Given the description of an element on the screen output the (x, y) to click on. 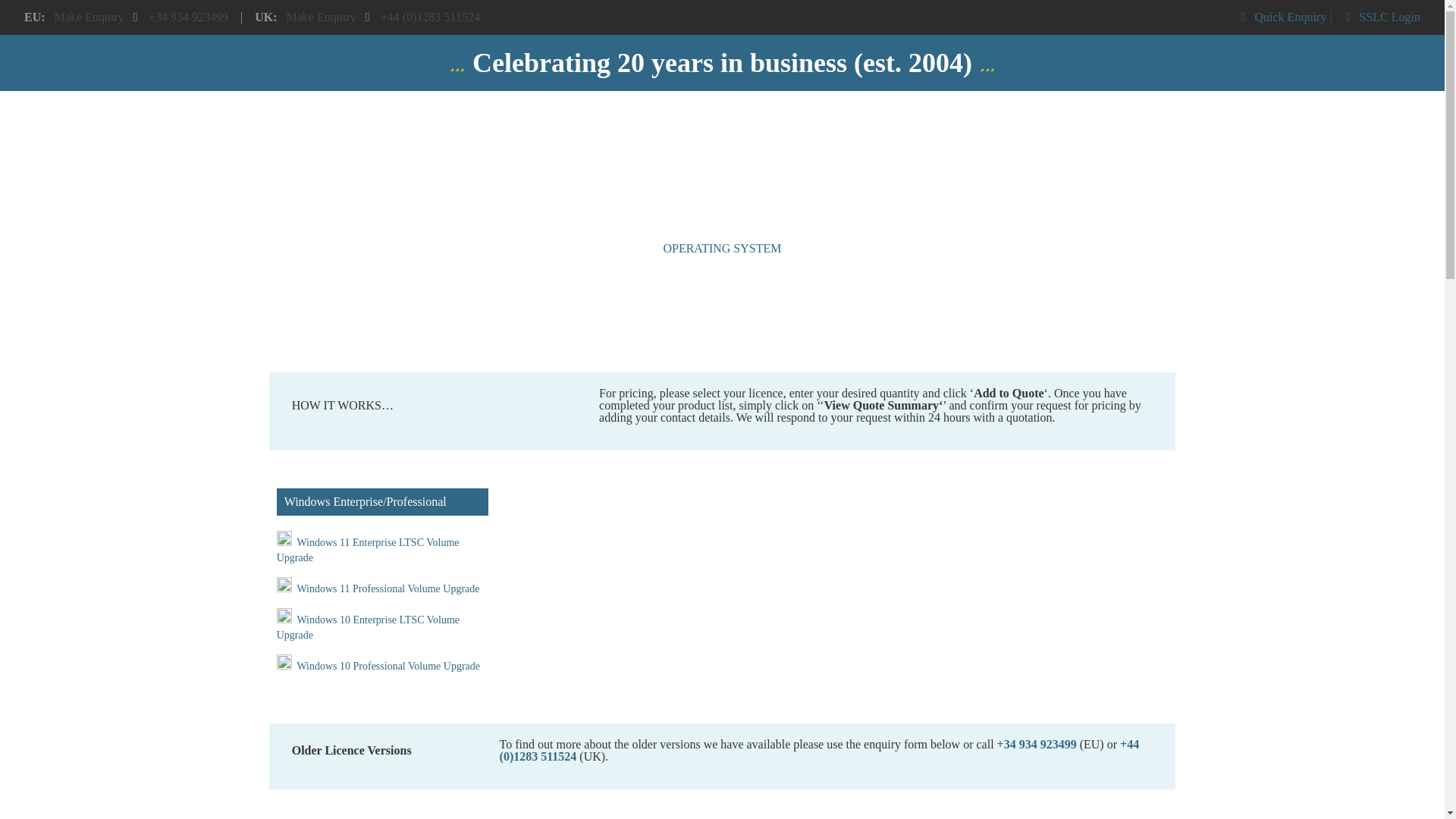
Quick Enquiry (1280, 16)
Make Enquiry (320, 16)
Make Enquiry (89, 16)
SSLC Login (1380, 16)
